Given the description of an element on the screen output the (x, y) to click on. 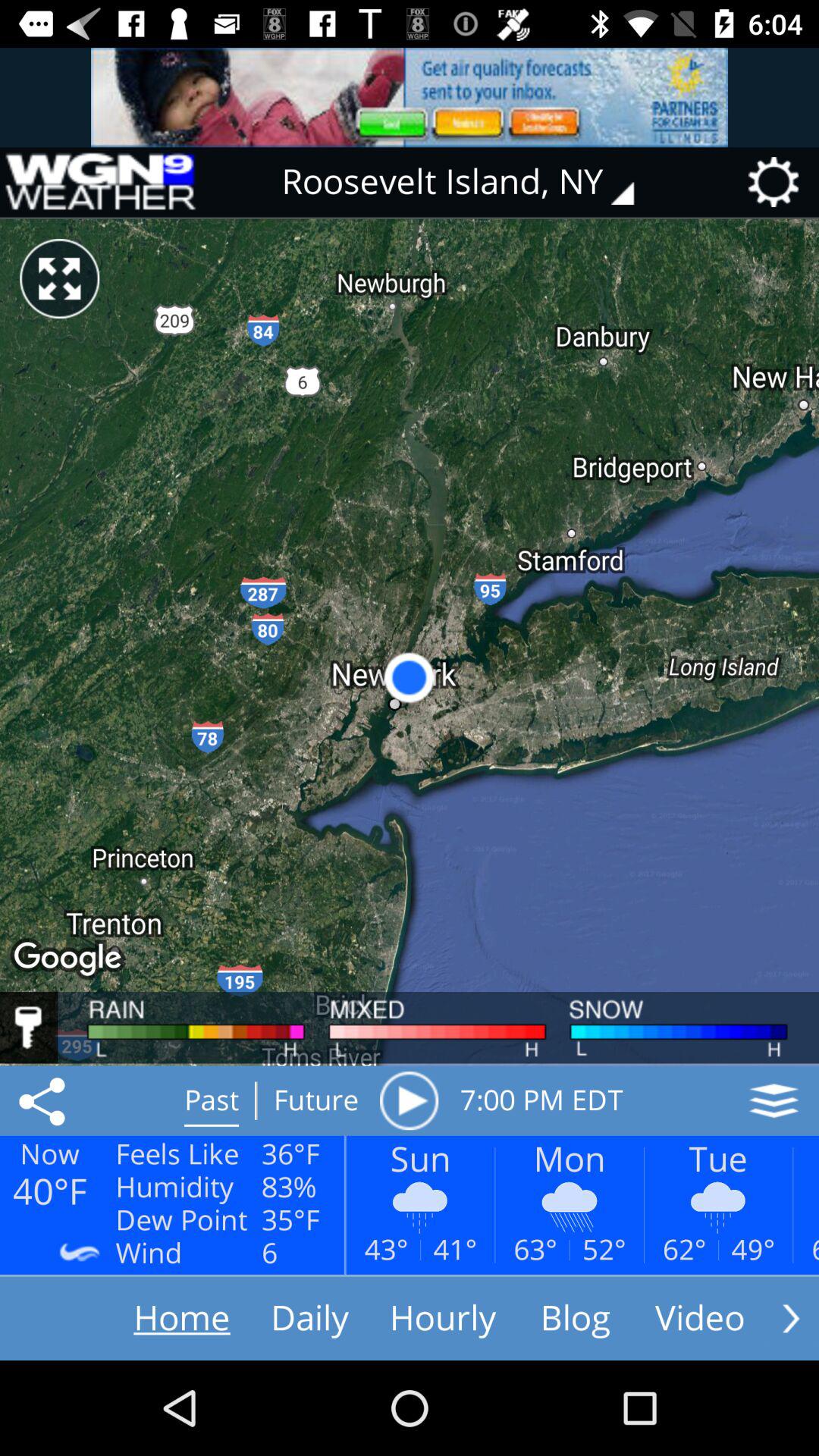
click item above sun icon (409, 1100)
